Given the description of an element on the screen output the (x, y) to click on. 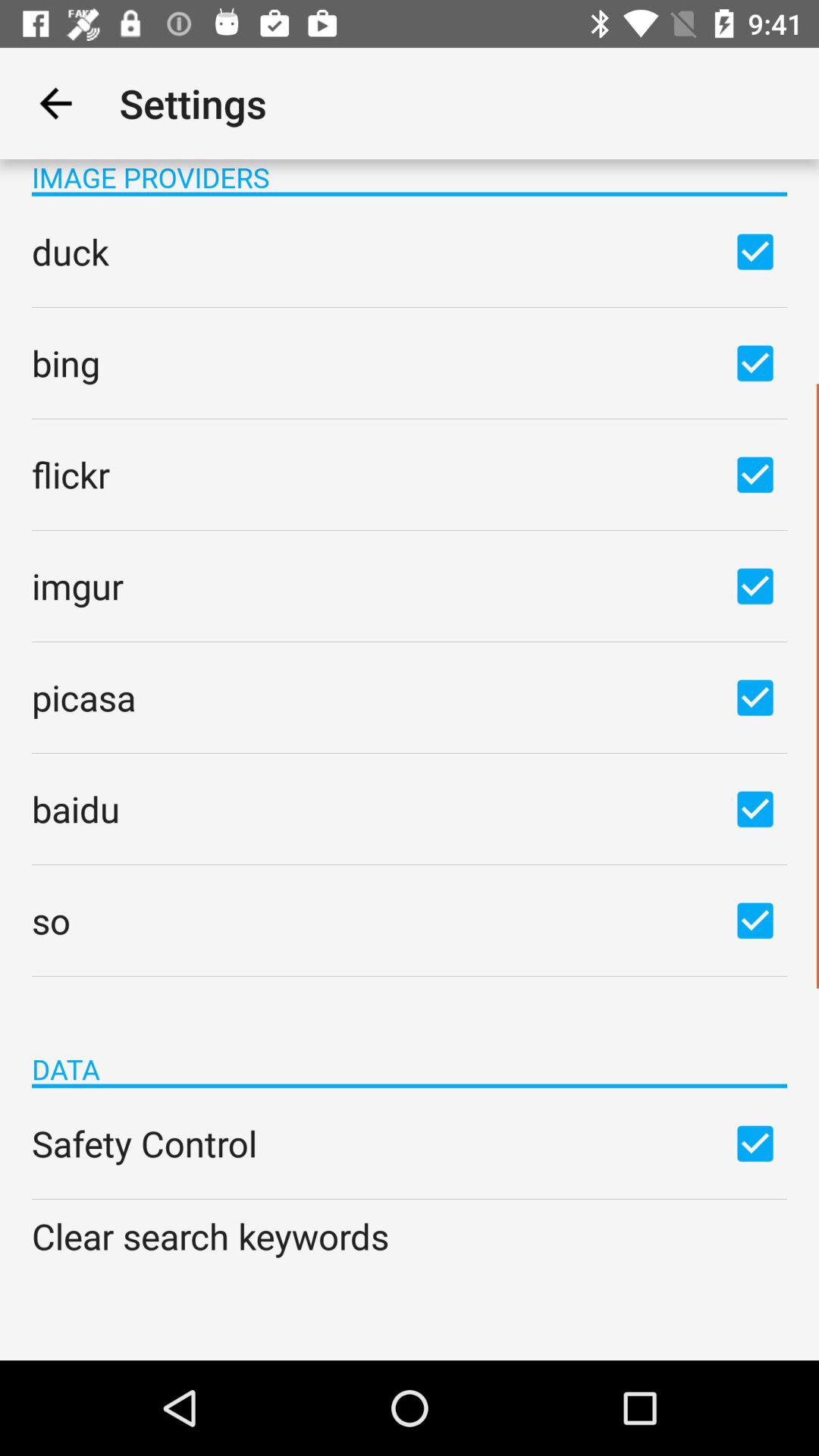
turn off the icon above the image providers (55, 103)
